Given the description of an element on the screen output the (x, y) to click on. 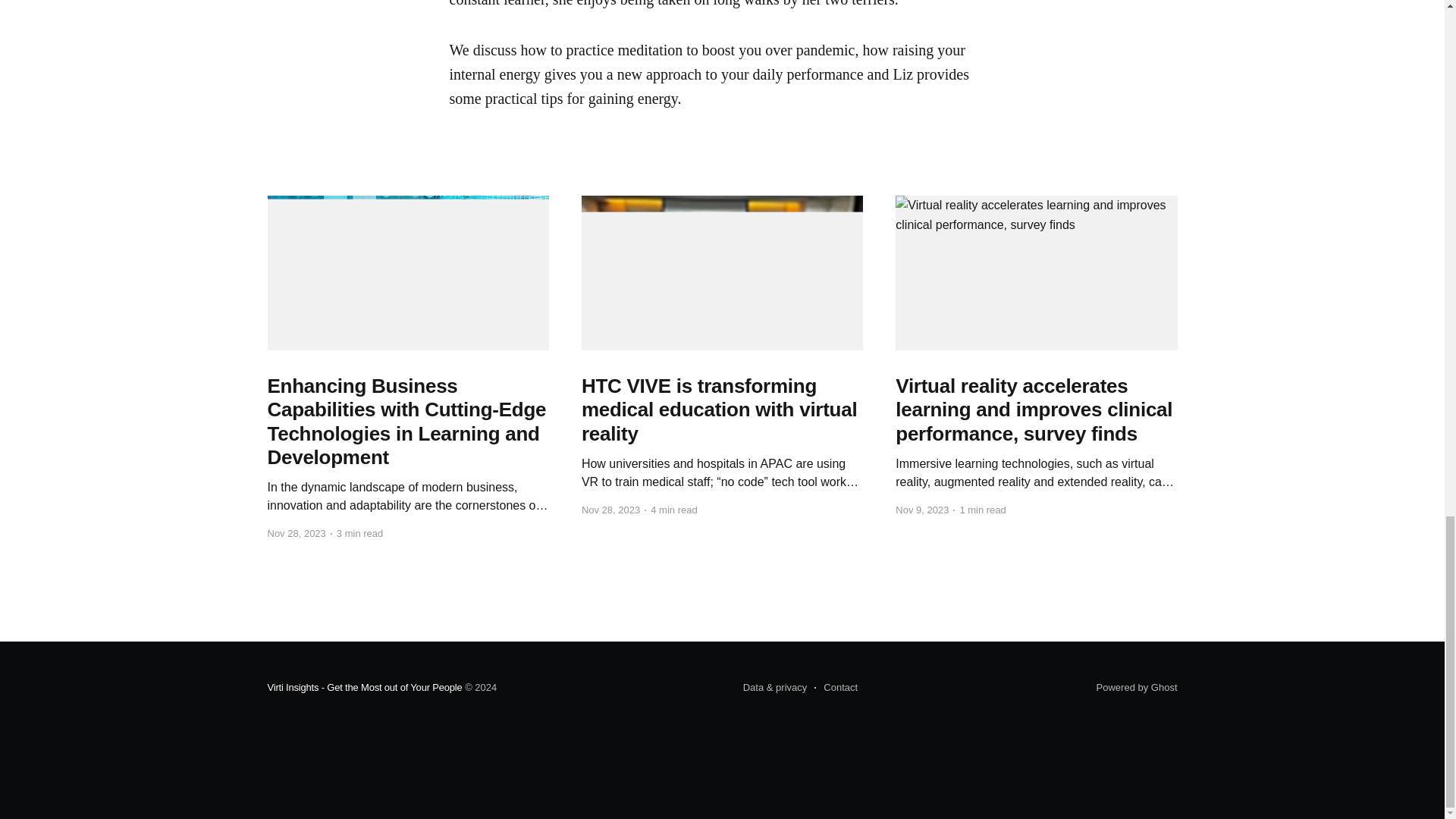
Powered by Ghost (1136, 686)
Virti Insights - Get the Most out of Your People (363, 686)
Contact (835, 687)
